Given the description of an element on the screen output the (x, y) to click on. 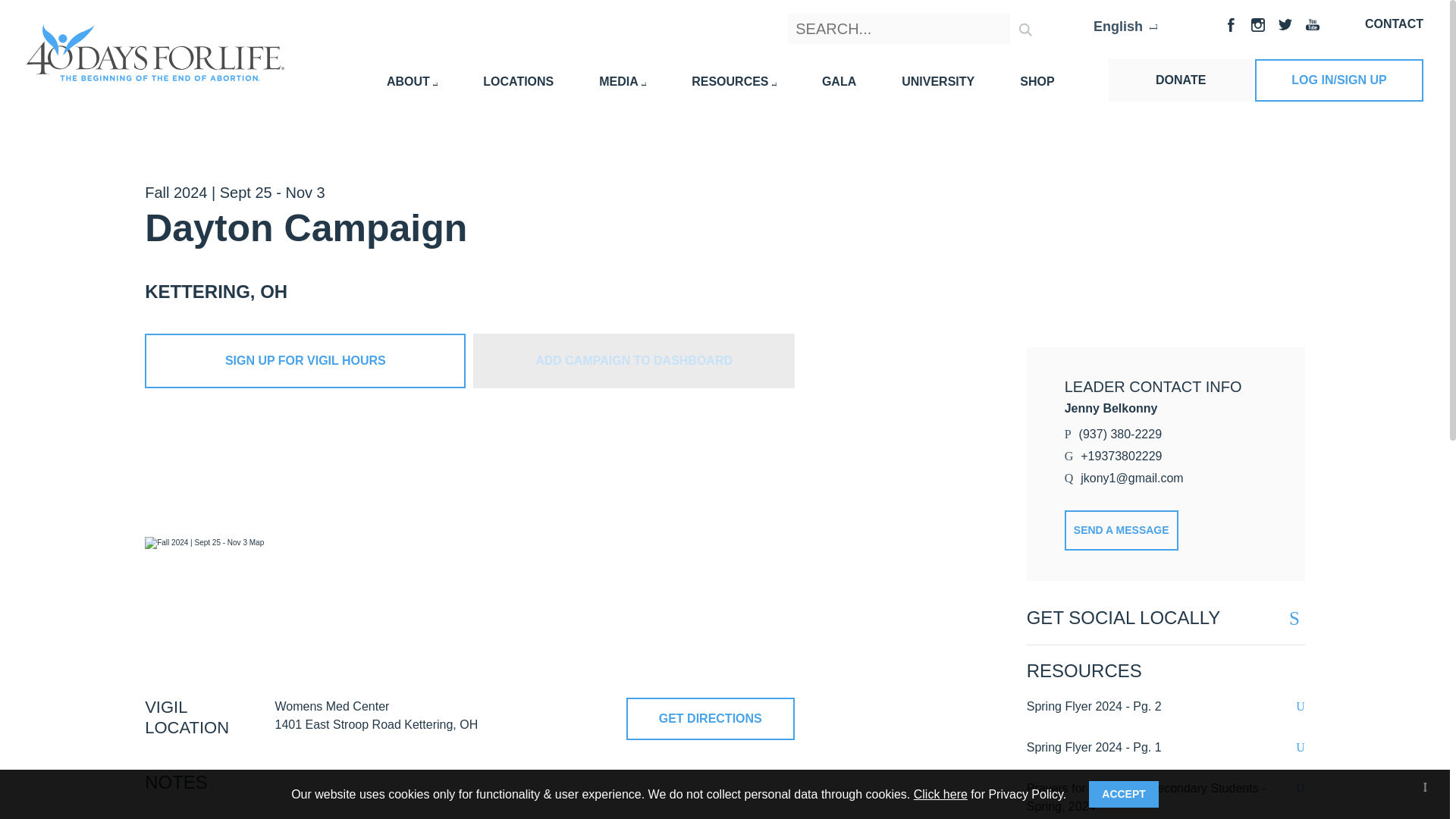
SHOP (1037, 81)
ACCEPT (1123, 794)
CONTACT (1394, 23)
LOCATIONS (518, 81)
GALA (839, 81)
Click here (941, 793)
DONATE (1180, 79)
UNIVERSITY (937, 81)
